Given the description of an element on the screen output the (x, y) to click on. 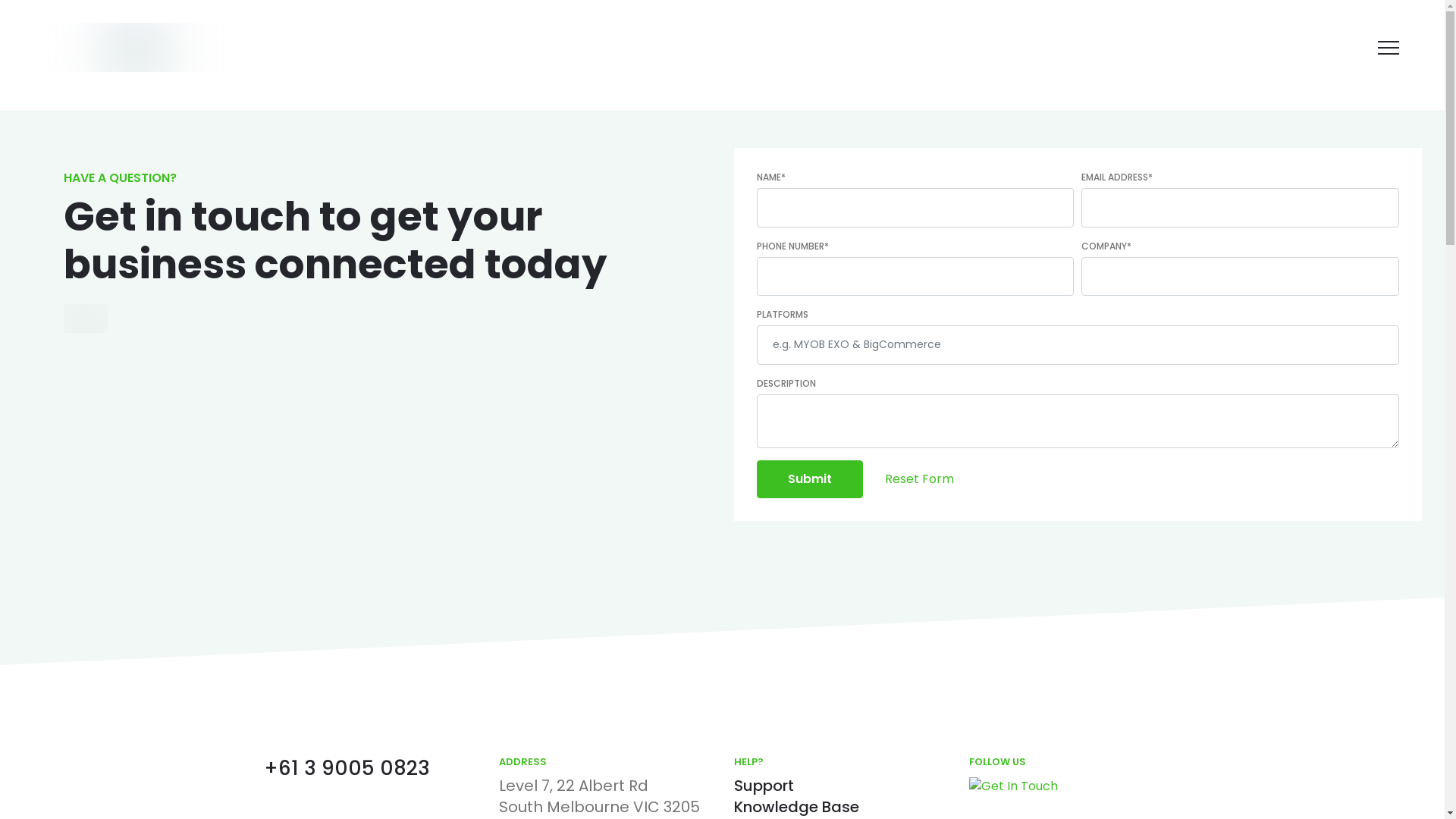
Reset Form Element type: text (919, 479)
+61 3 9005 0823 Element type: text (346, 768)
Knowledge Base Element type: text (796, 806)
Support Element type: text (763, 785)
Submit Element type: text (809, 479)
